Given the description of an element on the screen output the (x, y) to click on. 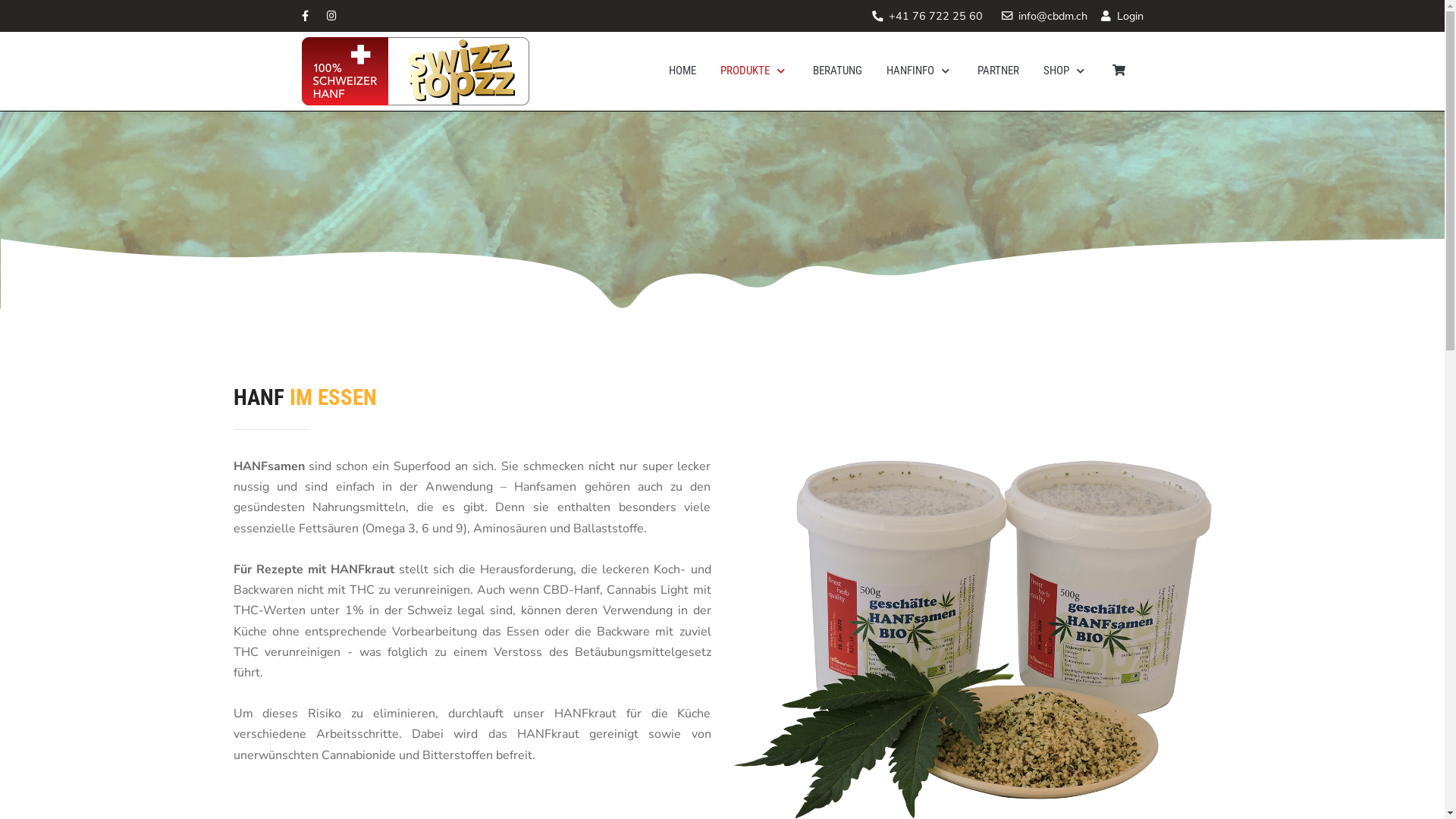
Warenkorb Element type: hover (1117, 71)
Login Element type: text (1122, 15)
HANFINFO Element type: text (918, 71)
info@cbdm.ch Element type: text (1052, 15)
HOME Element type: text (682, 71)
PRODUKTE Element type: text (754, 71)
PARTNER Element type: text (997, 71)
BERATUNG Element type: text (837, 71)
SHOP Element type: text (1065, 71)
+41 76 722 25 60 Element type: text (935, 15)
